Given the description of an element on the screen output the (x, y) to click on. 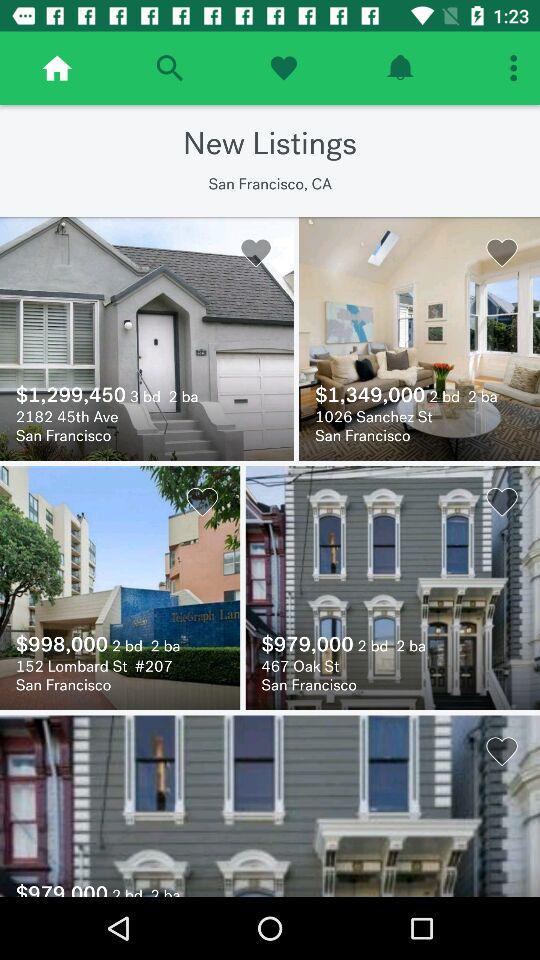
go home (57, 68)
